Given the description of an element on the screen output the (x, y) to click on. 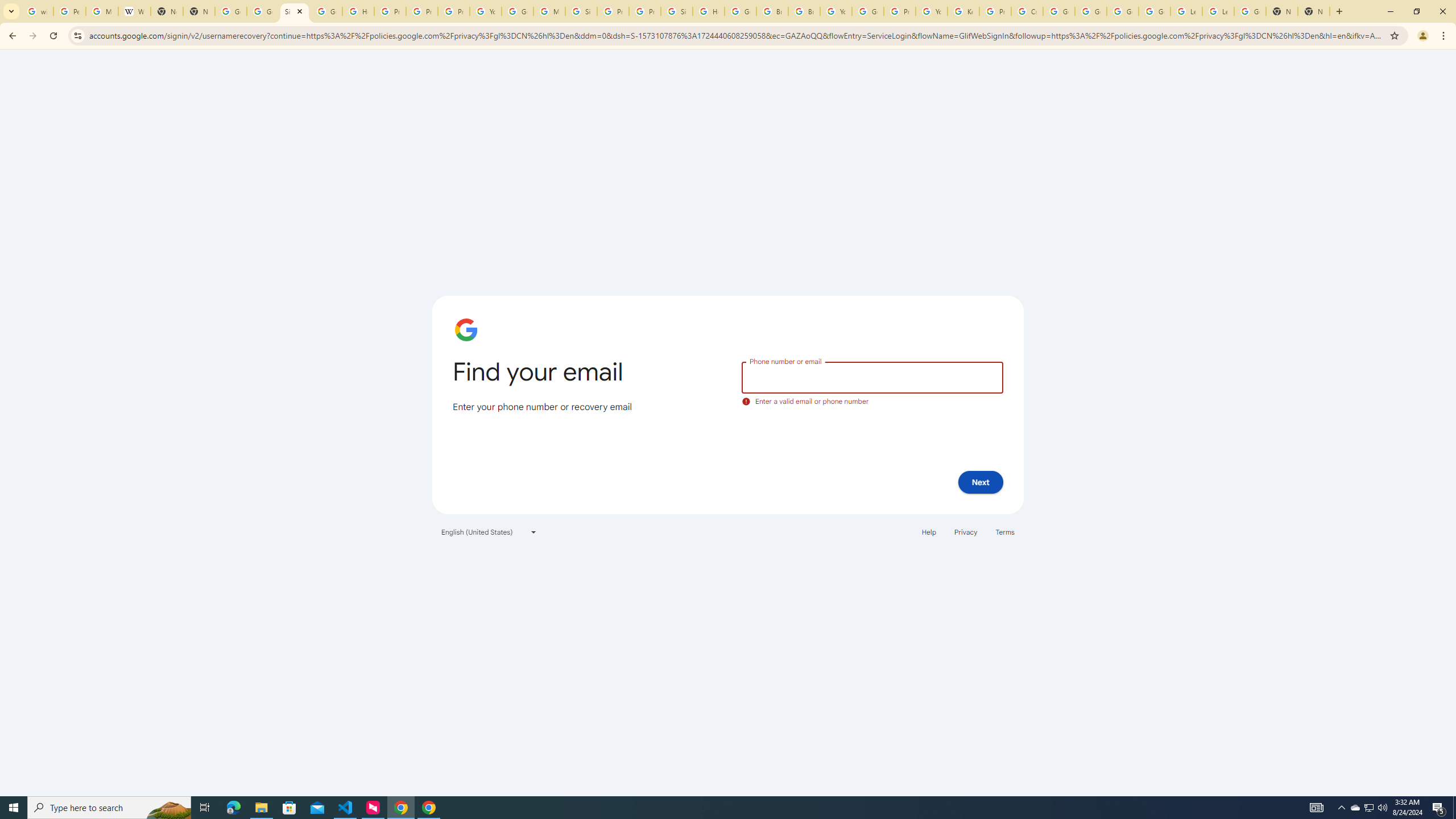
Google Account Help (1091, 11)
Sign in - Google Accounts (676, 11)
Brand Resource Center (772, 11)
Sign in - Google Accounts (294, 11)
New Tab (1313, 11)
